Given the description of an element on the screen output the (x, y) to click on. 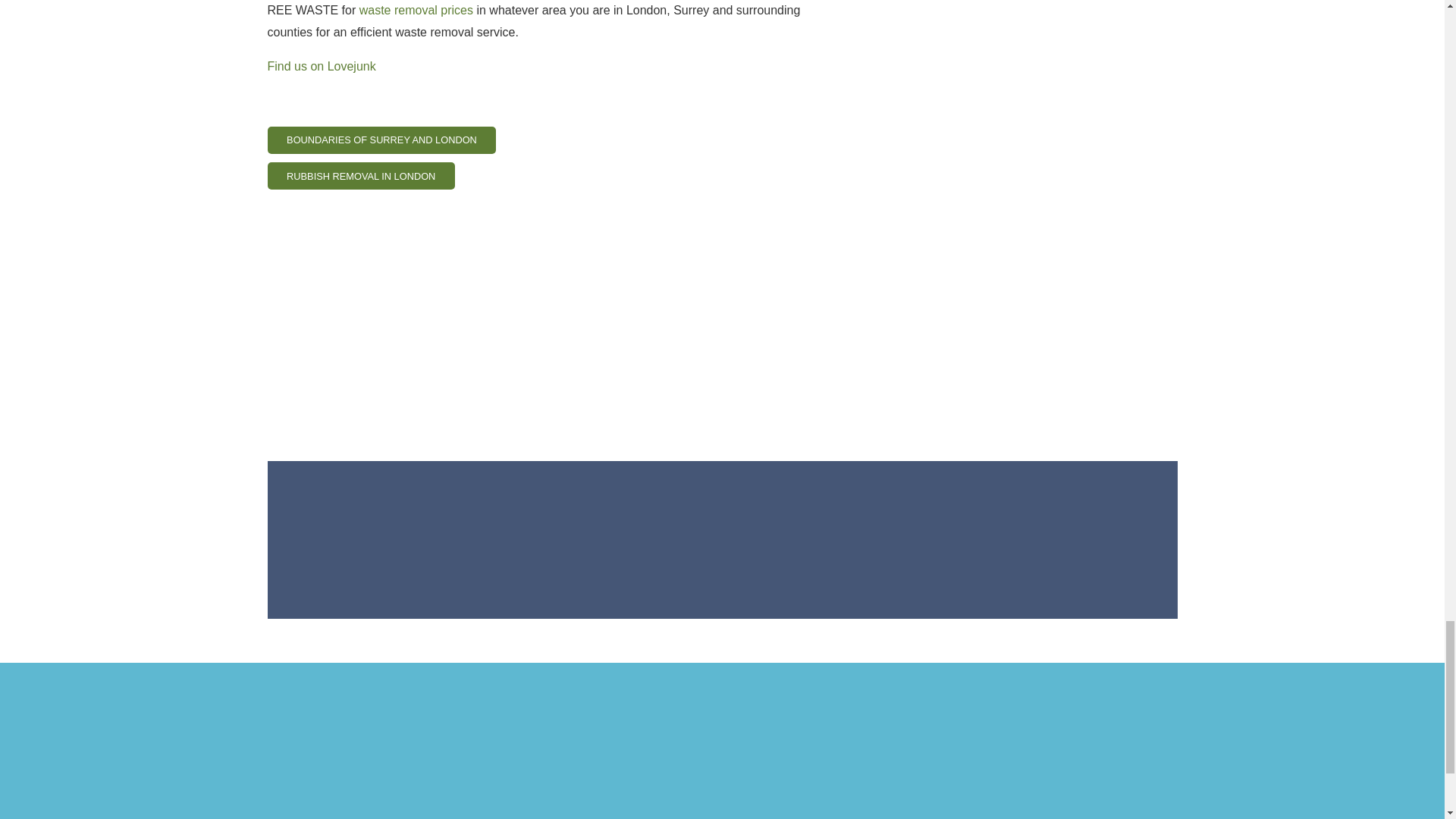
RUBBISH REMOVAL IN LONDON (360, 175)
BOUNDARIES OF SURREY AND LONDON (381, 139)
Find us on Lovejunk  (322, 65)
waste removal prices (416, 10)
